Given the description of an element on the screen output the (x, y) to click on. 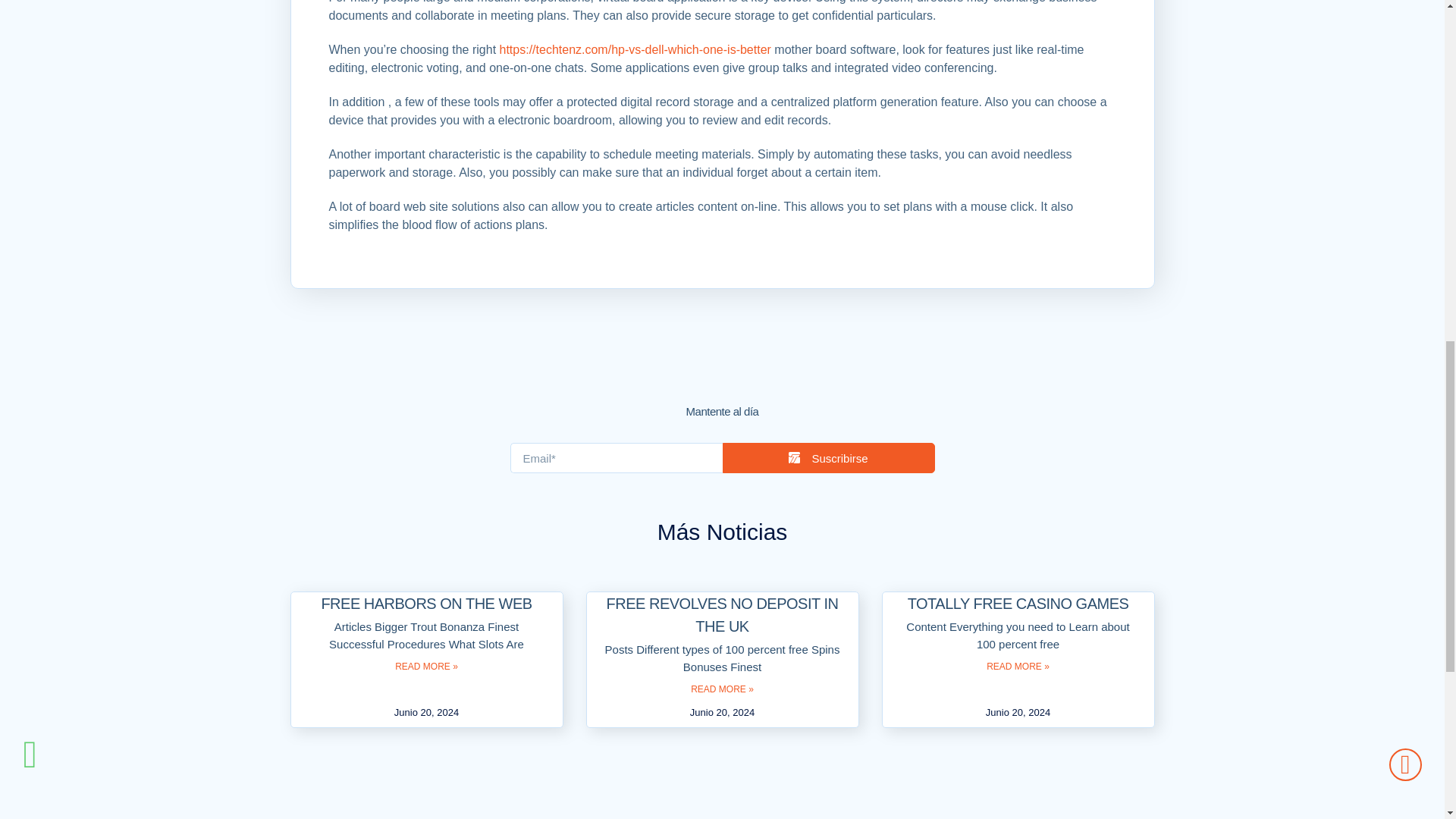
FREE HARBORS ON THE WEB (425, 603)
FREE REVOLVES NO DEPOSIT IN THE UK (722, 614)
TOTALLY FREE CASINO GAMES (1018, 603)
